Given the description of an element on the screen output the (x, y) to click on. 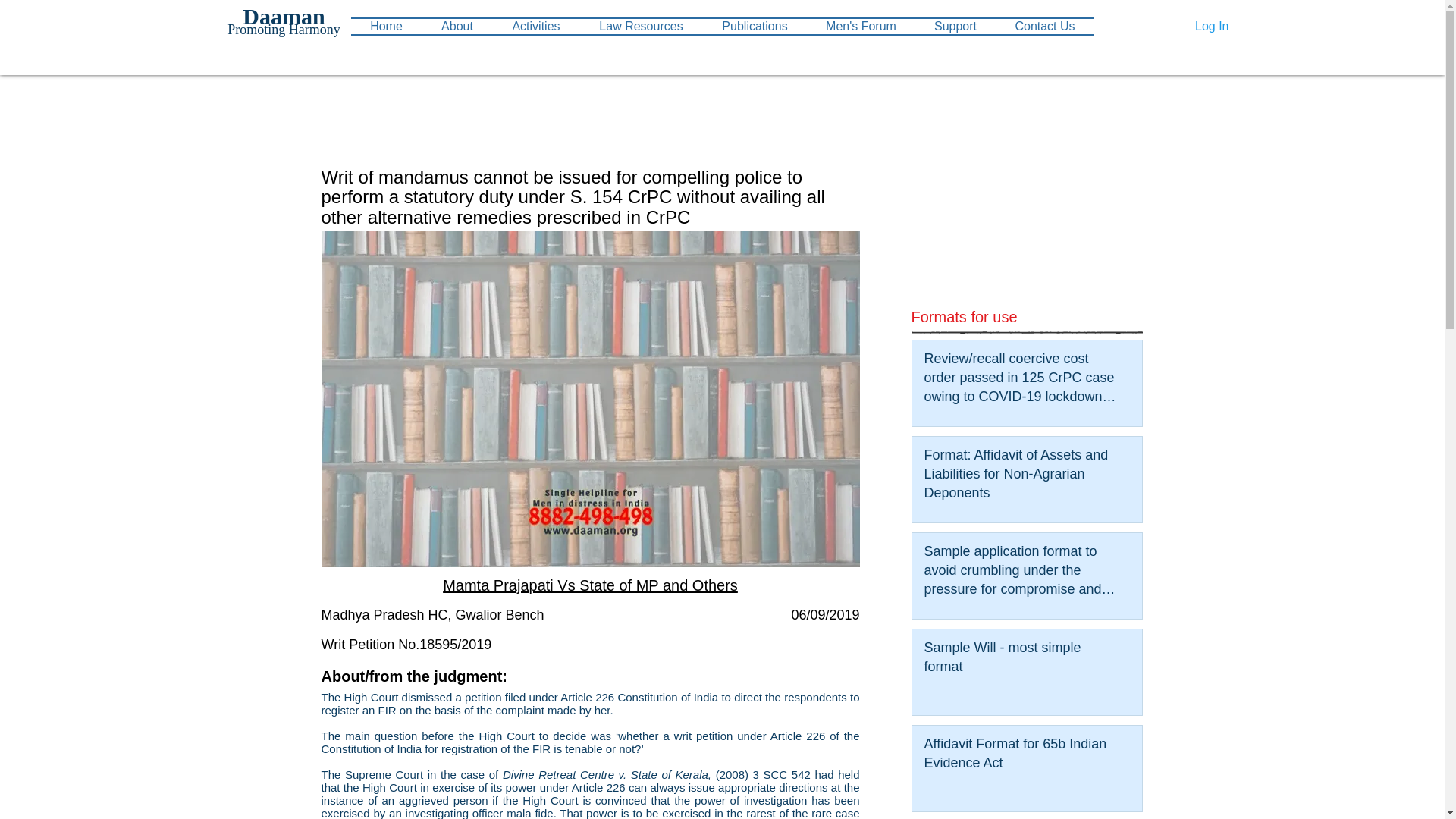
Home (386, 26)
Log In (1212, 26)
About (457, 26)
Sample Will - most simple format (1021, 660)
Affidavit Format for 65b Indian Evidence Act (1021, 756)
Men's Forum (860, 26)
Support (954, 26)
